Given the description of an element on the screen output the (x, y) to click on. 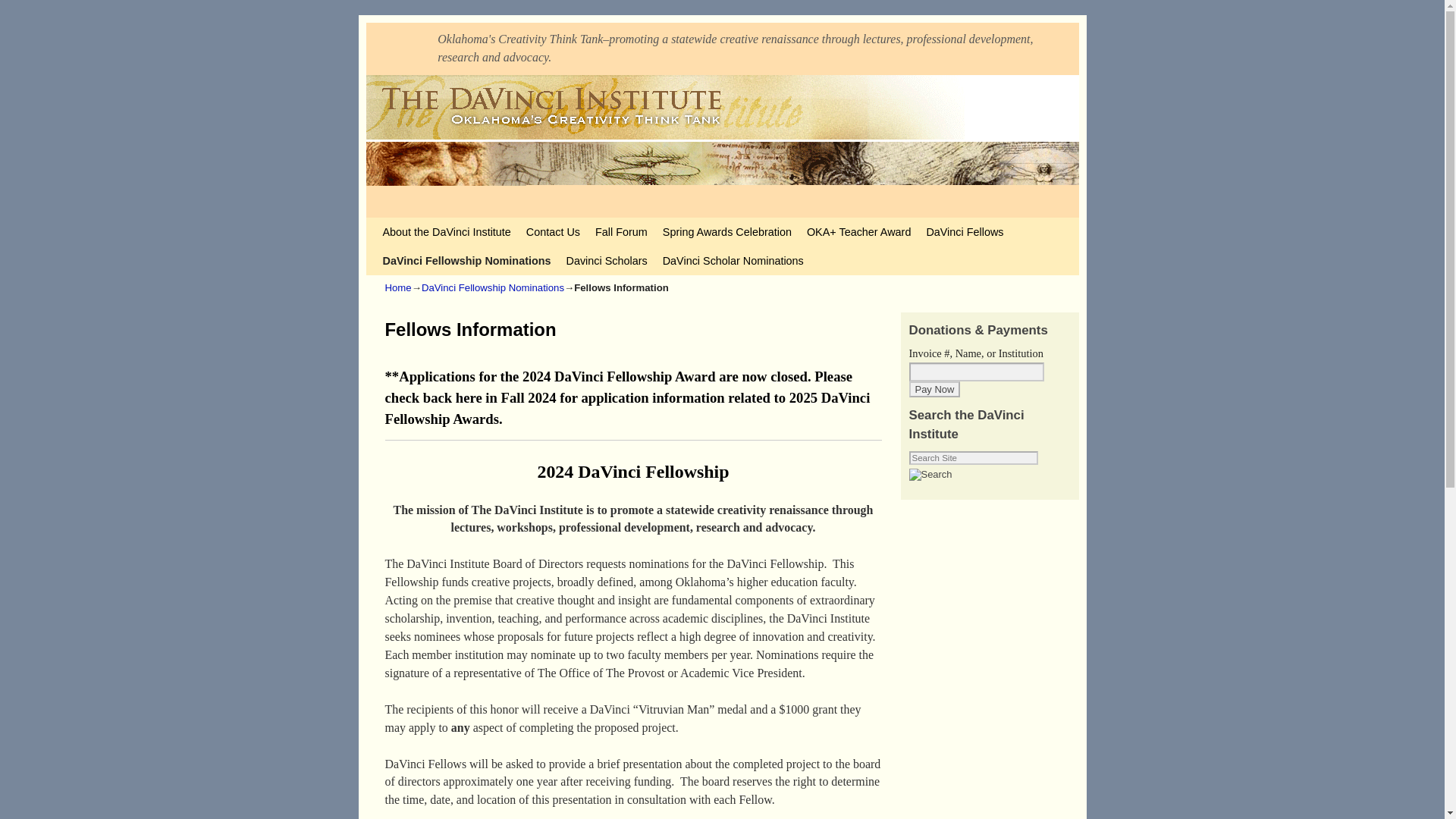
Spring Awards Celebration (727, 231)
Davinci Scholars (607, 260)
DaVinci Fellows (964, 231)
DaVinci Fellowship Nominations (465, 260)
Pay Now (933, 389)
Contact Us (553, 231)
Fall Forum (621, 231)
DaVinci Fellowship Nominations (493, 287)
Skip to secondary content (412, 223)
Home (398, 287)
